Given the description of an element on the screen output the (x, y) to click on. 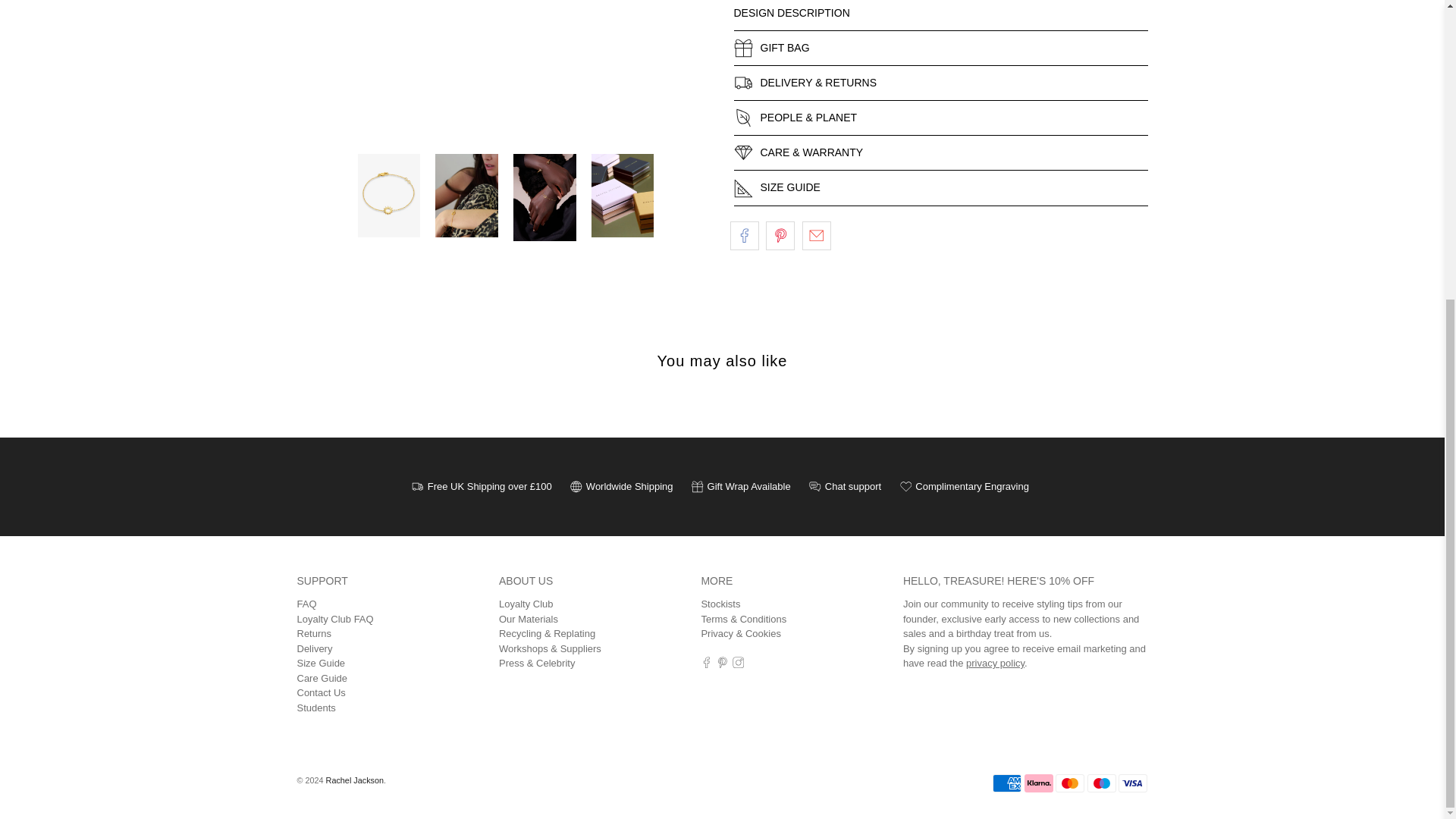
Share this on Pinterest (779, 235)
Rachel Jackson on Instagram (738, 664)
Email this to a friend (816, 235)
Electric Goddess Sun Bracelet (505, 58)
Share this on Facebook (743, 235)
Rachel Jackson on Pinterest (722, 664)
Rachel Jackson on Facebook (706, 664)
